Given the description of an element on the screen output the (x, y) to click on. 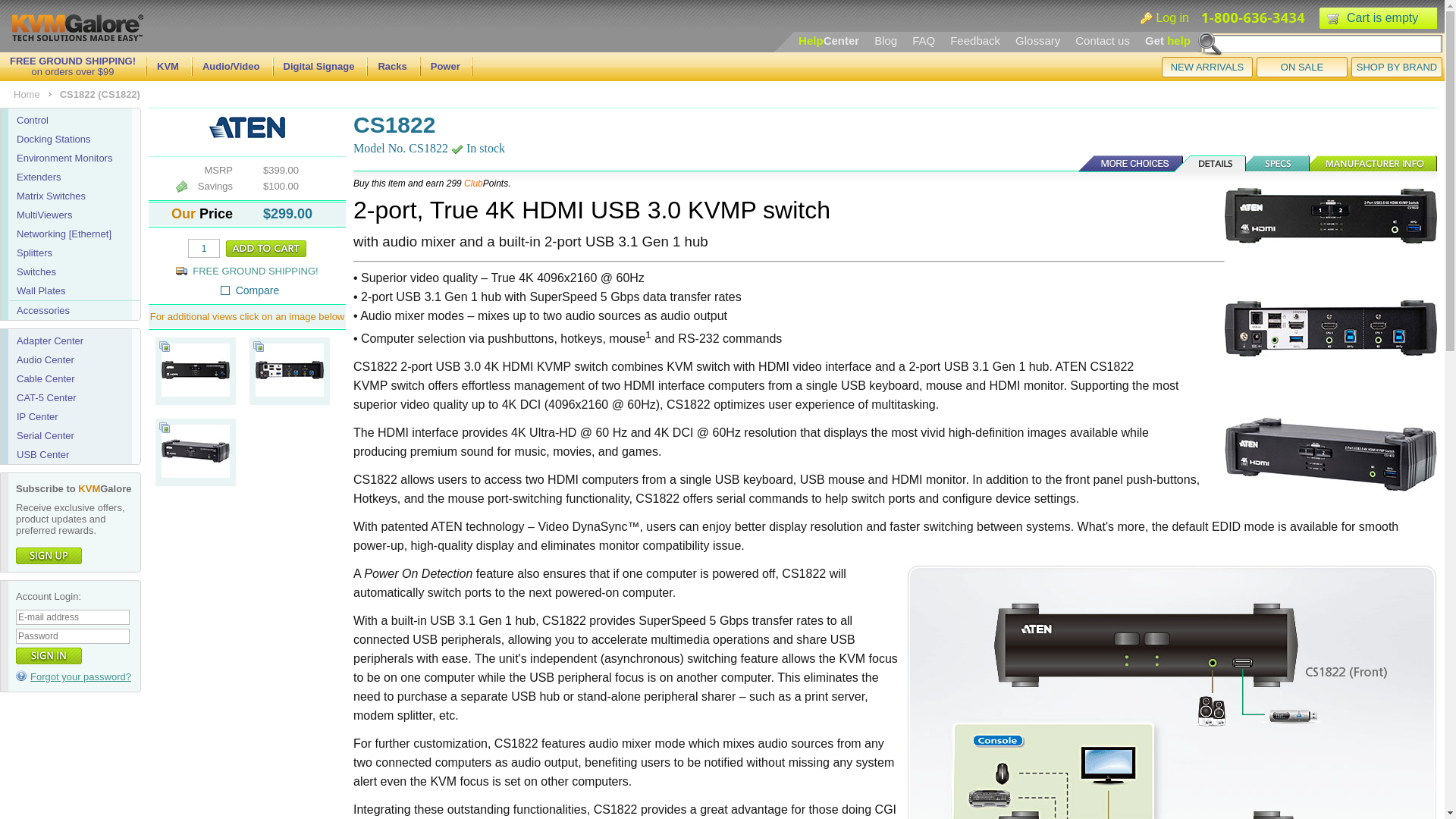
1 (203, 248)
 Sign Up  (48, 555)
Image 1 of 3 (195, 392)
KVM (167, 66)
 Image 2 of 3  (289, 369)
 CS1822  (1330, 339)
Feedback (975, 40)
Glossary (1036, 40)
Get help (1167, 40)
FREE GROUND SHIPPING! (72, 60)
FAQ (923, 40)
 Image 1 of 3  (195, 369)
 Shopping Cart  (1332, 17)
Image 3 of 3 (195, 473)
